Given the description of an element on the screen output the (x, y) to click on. 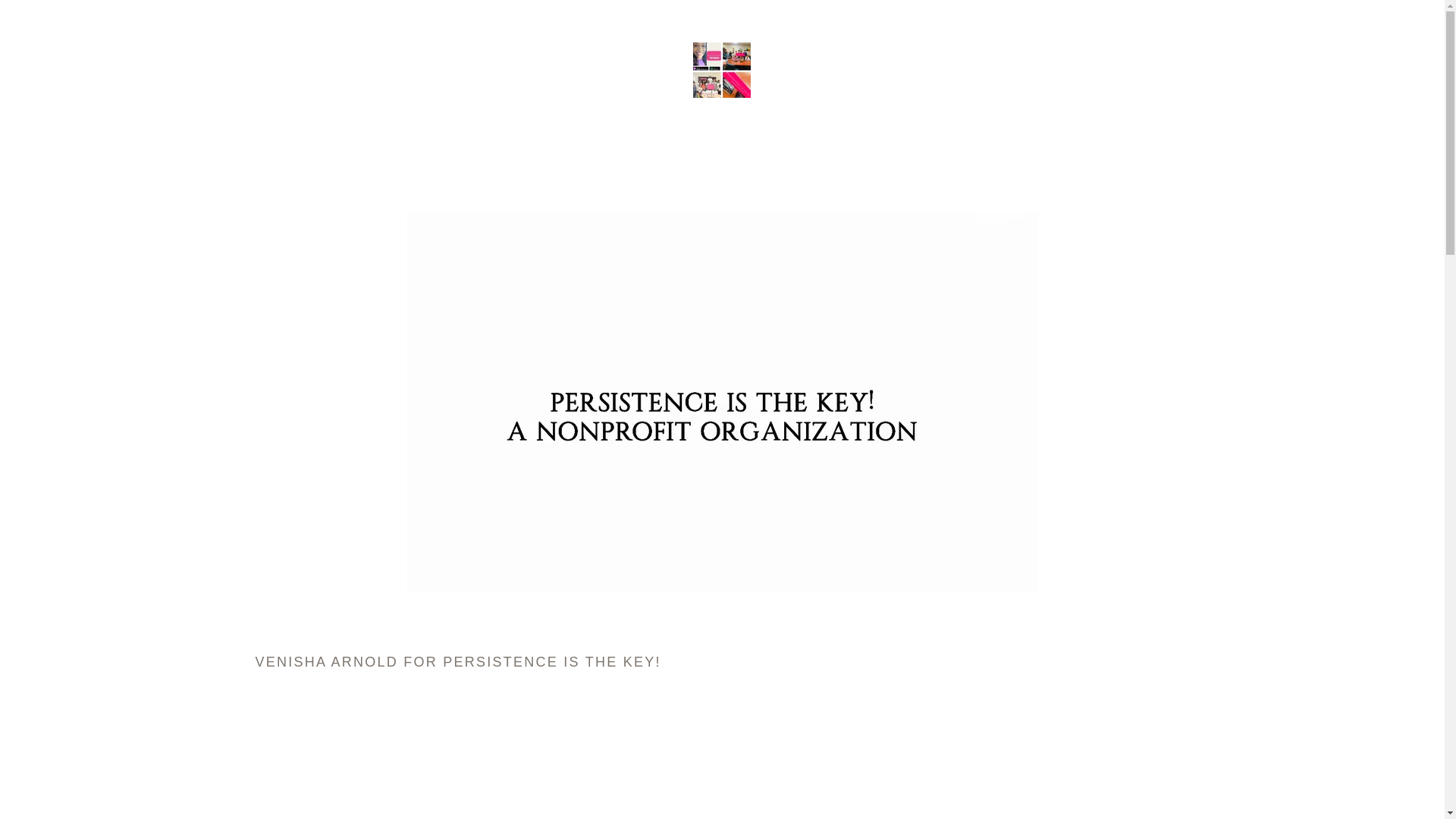
Persistence is The Key! A Nonprofit Organization  (722, 68)
